Given the description of an element on the screen output the (x, y) to click on. 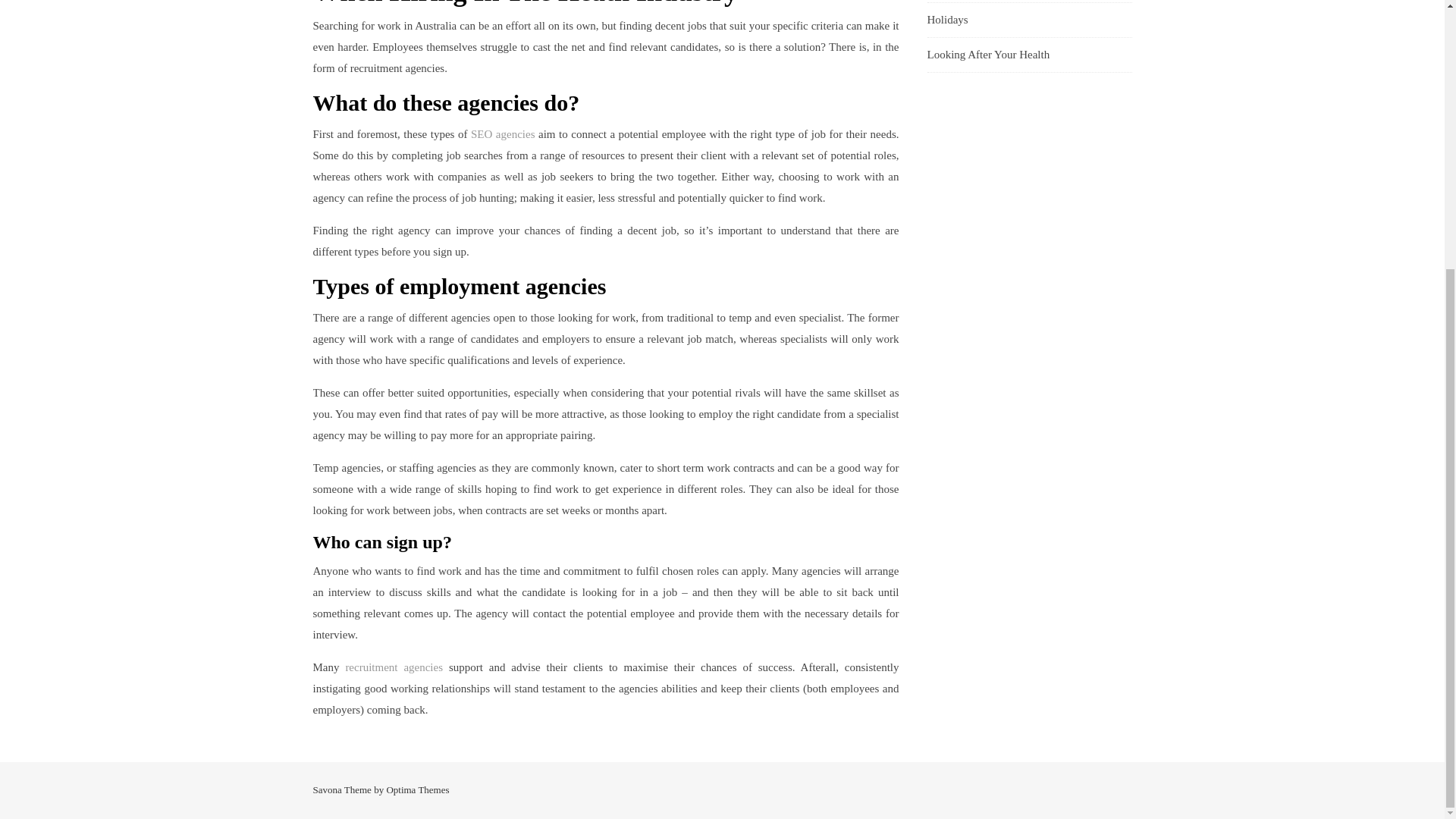
SEO agencies (502, 133)
recruitment agencies (393, 666)
